Given the description of an element on the screen output the (x, y) to click on. 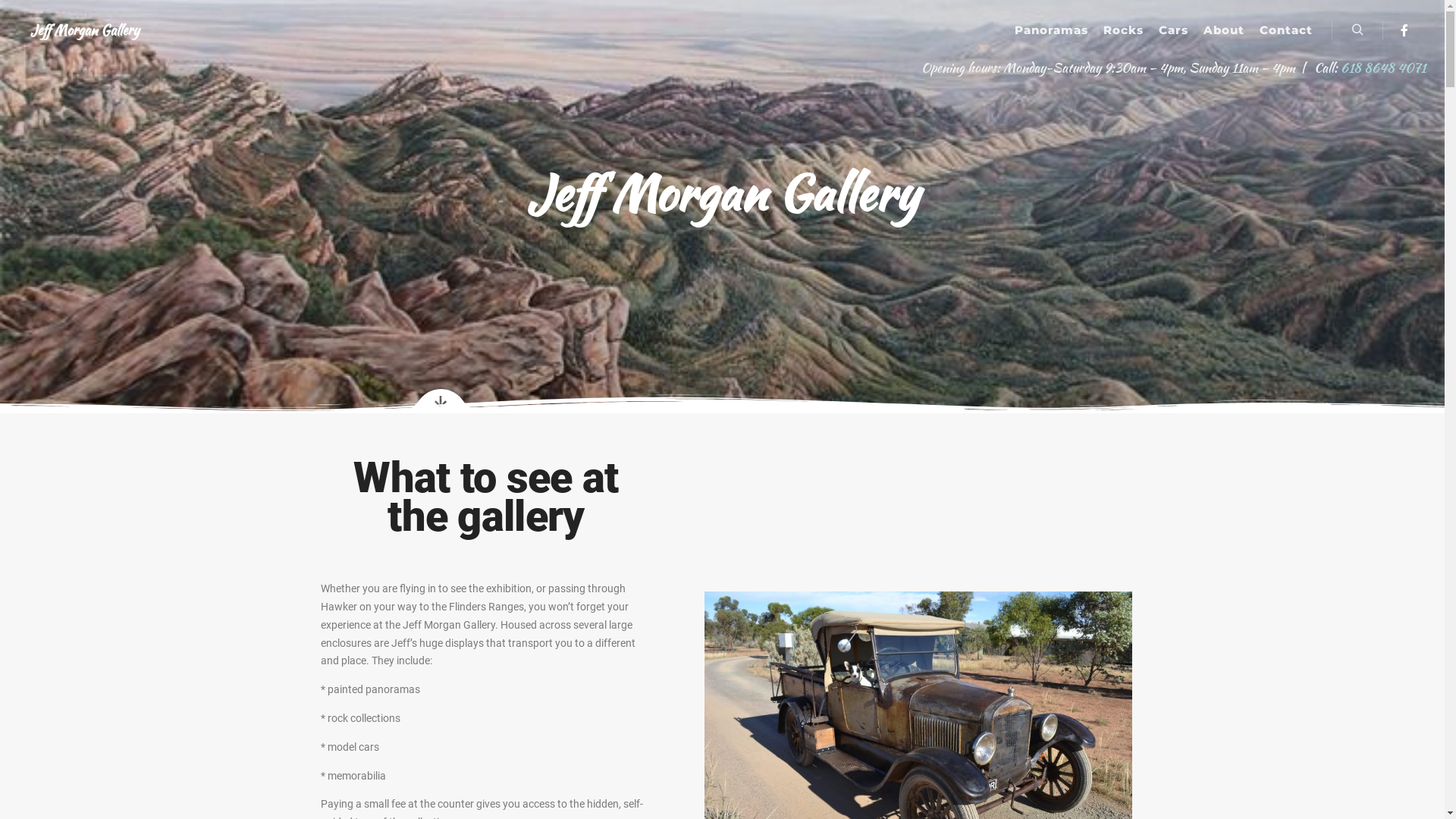
Cars Element type: text (1173, 30)
Rocks Element type: text (1123, 30)
About Element type: text (1223, 30)
Jeff Morgan Gallery Element type: text (84, 30)
Search Element type: hover (1357, 30)
Panoramas Element type: text (1051, 30)
Facebook Element type: hover (1404, 30)
Contact Element type: text (1286, 30)
618 8648 4071 Element type: text (1382, 67)
